Given the description of an element on the screen output the (x, y) to click on. 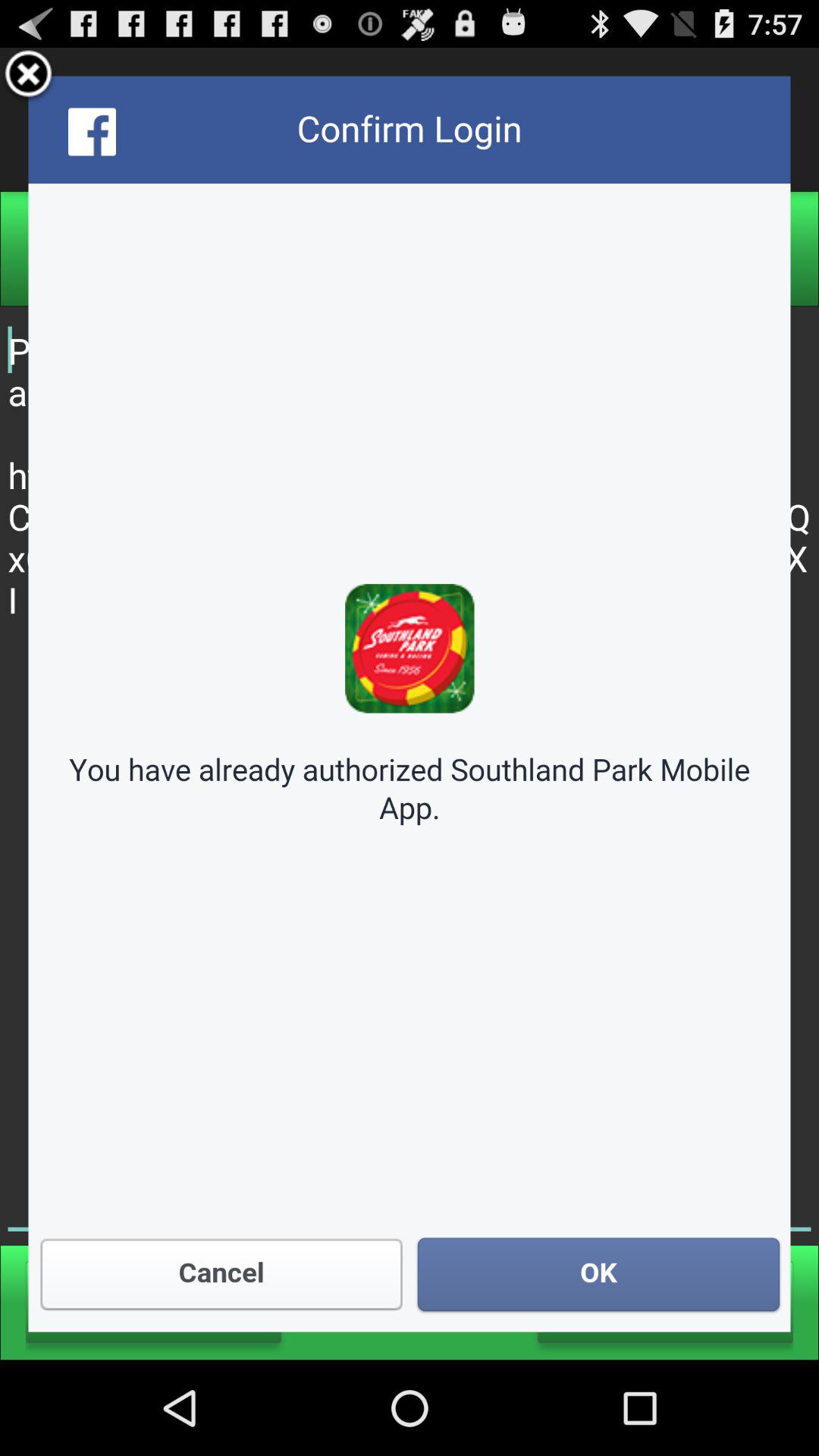
close option (28, 75)
